Given the description of an element on the screen output the (x, y) to click on. 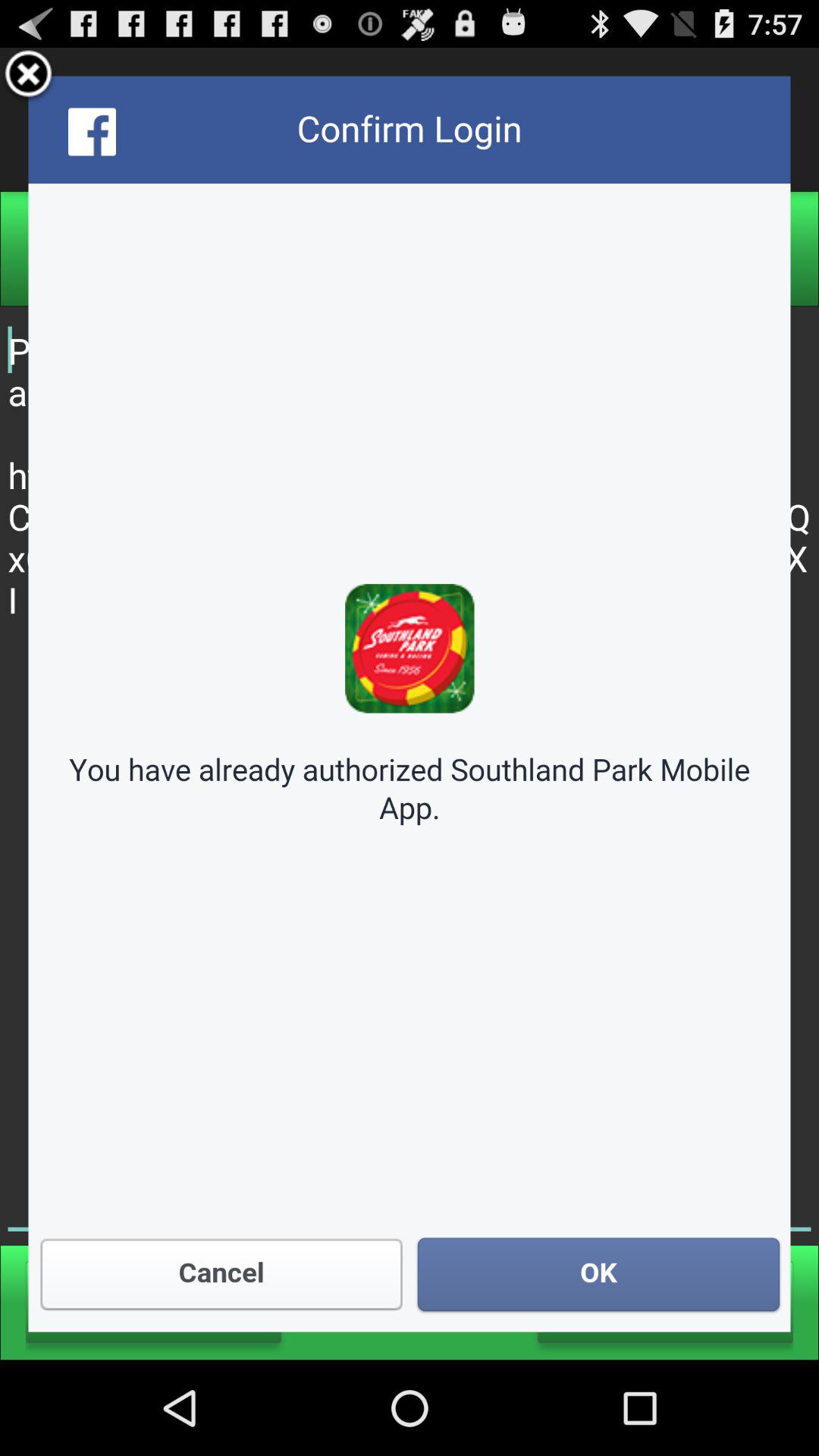
close option (28, 75)
